Given the description of an element on the screen output the (x, y) to click on. 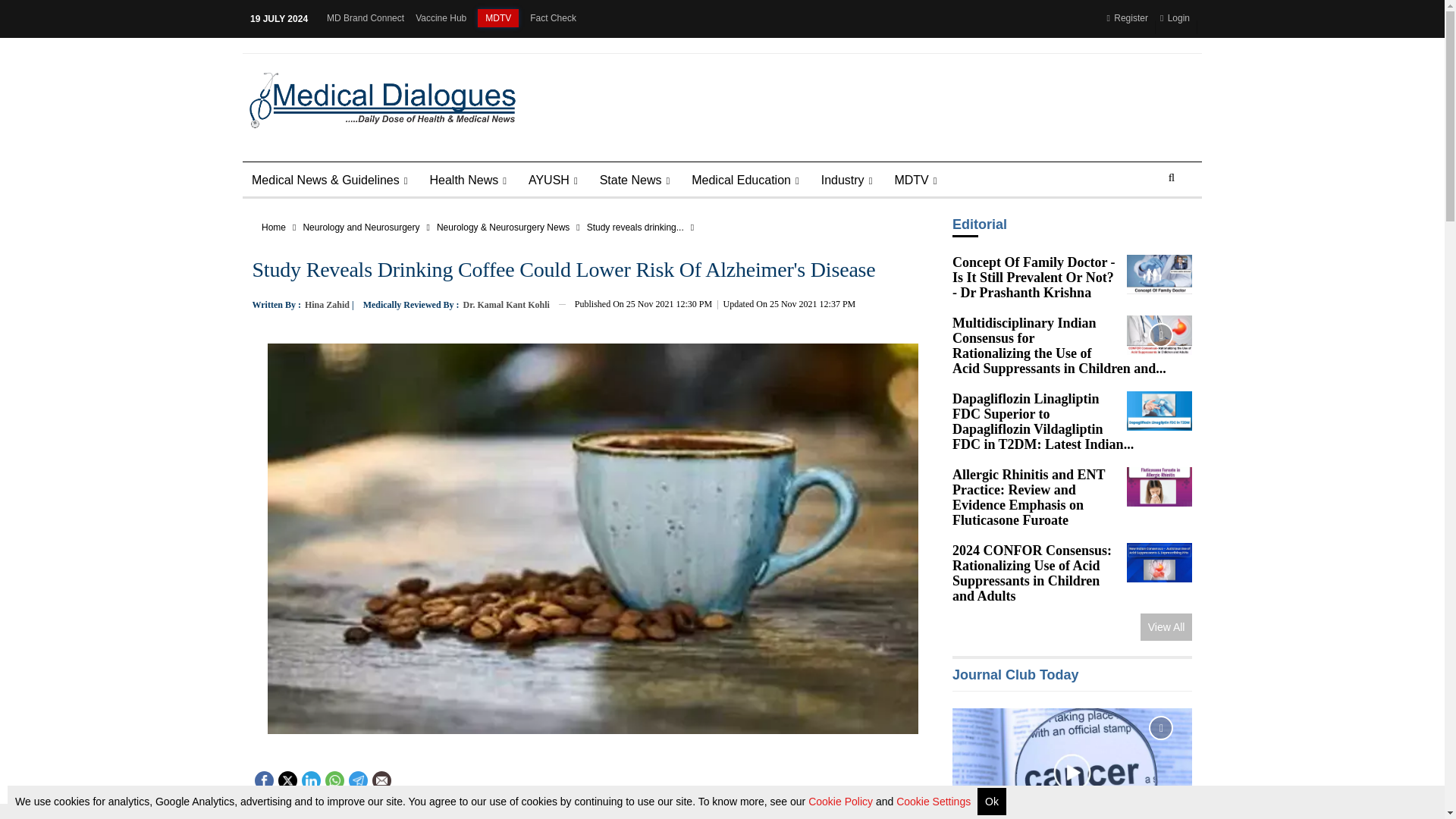
linkedin (309, 780)
Share by Email (381, 780)
MD Brand Connect (365, 18)
LinkedIn (310, 779)
facebook (263, 780)
telegram (357, 780)
Login (1177, 26)
Facebook (263, 779)
Register (1129, 26)
Fact Check (552, 18)
Twitter (287, 779)
whatsapp (334, 780)
Medical Dialogues (378, 98)
MDTV (497, 18)
